Given the description of an element on the screen output the (x, y) to click on. 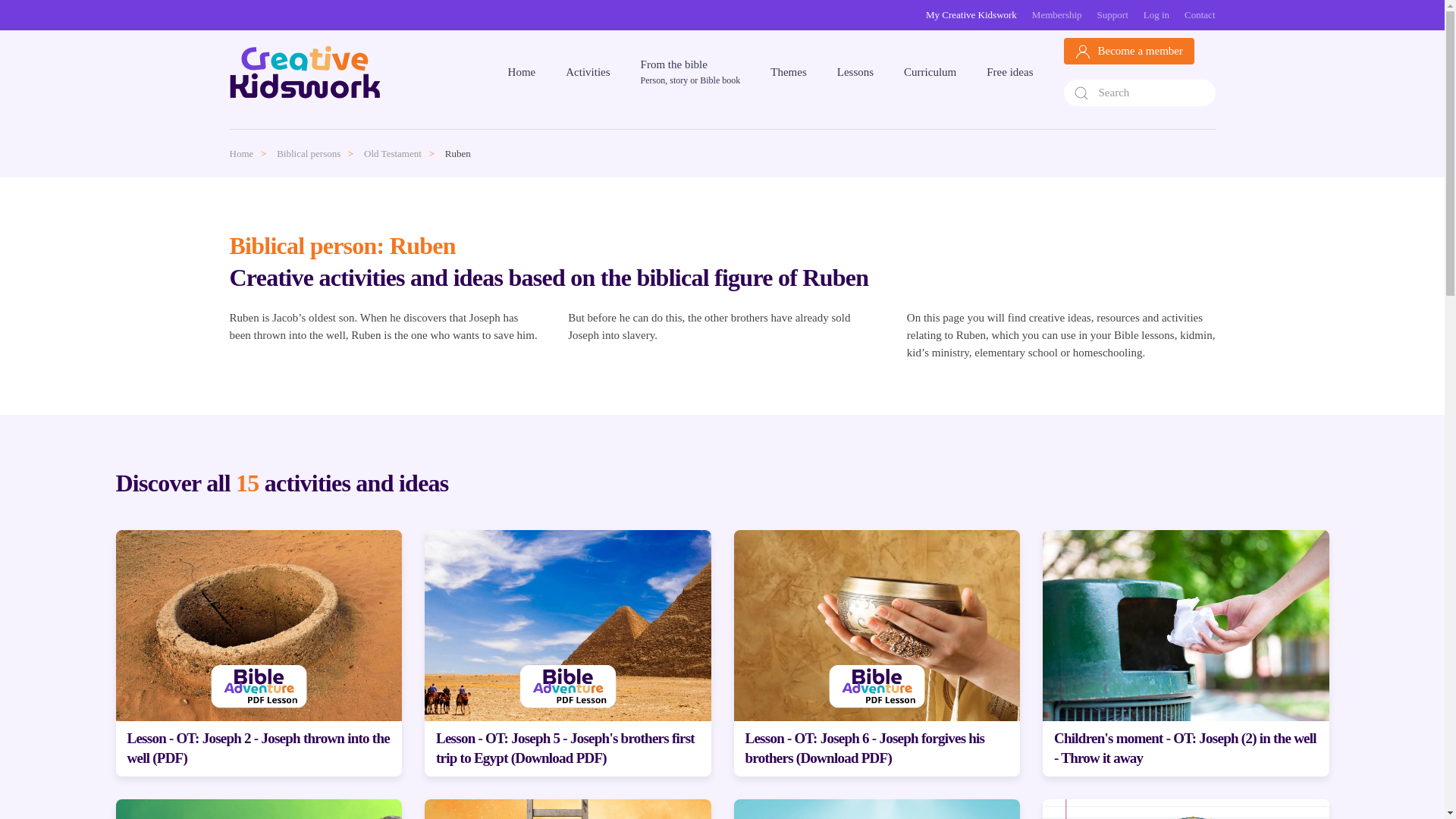
Contact (1199, 14)
Log in (1155, 14)
My Creative Kidswork (971, 14)
Membership (1056, 14)
Support (1112, 14)
